Given the description of an element on the screen output the (x, y) to click on. 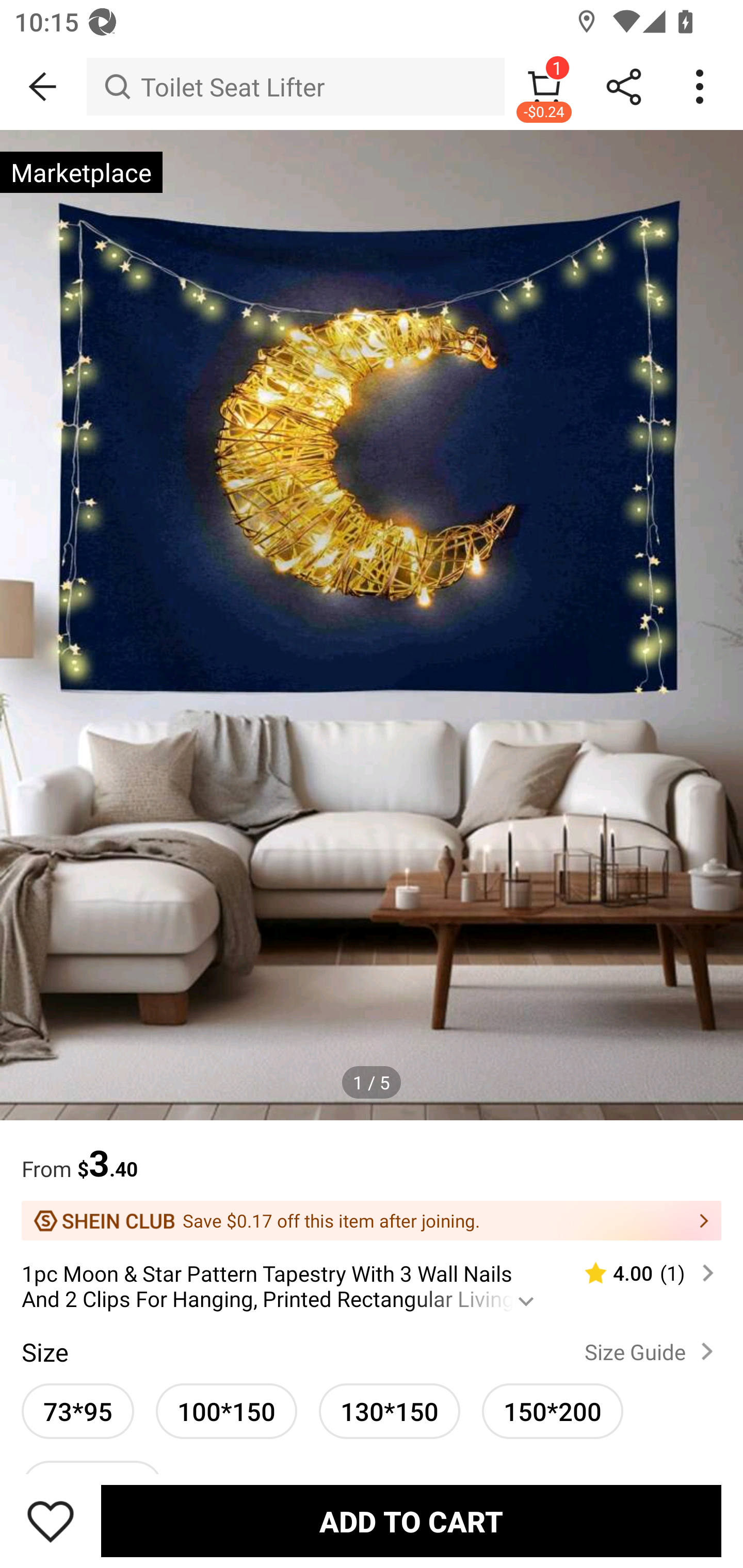
BACK (43, 86)
1 -$0.24 (543, 87)
Toilet Seat Lifter (295, 87)
1 / 5 (371, 1082)
Save $0.17 off this item after joining. (371, 1220)
4.00 (1) (640, 1273)
Size (44, 1351)
Size Guide (652, 1351)
73*95 73*95unselected option (77, 1410)
100*150 100*150unselected option (226, 1410)
130*150 130*150unselected option (388, 1410)
150*200 150*200unselected option (552, 1410)
ADD TO CART (411, 1520)
Save (50, 1520)
